Given the description of an element on the screen output the (x, y) to click on. 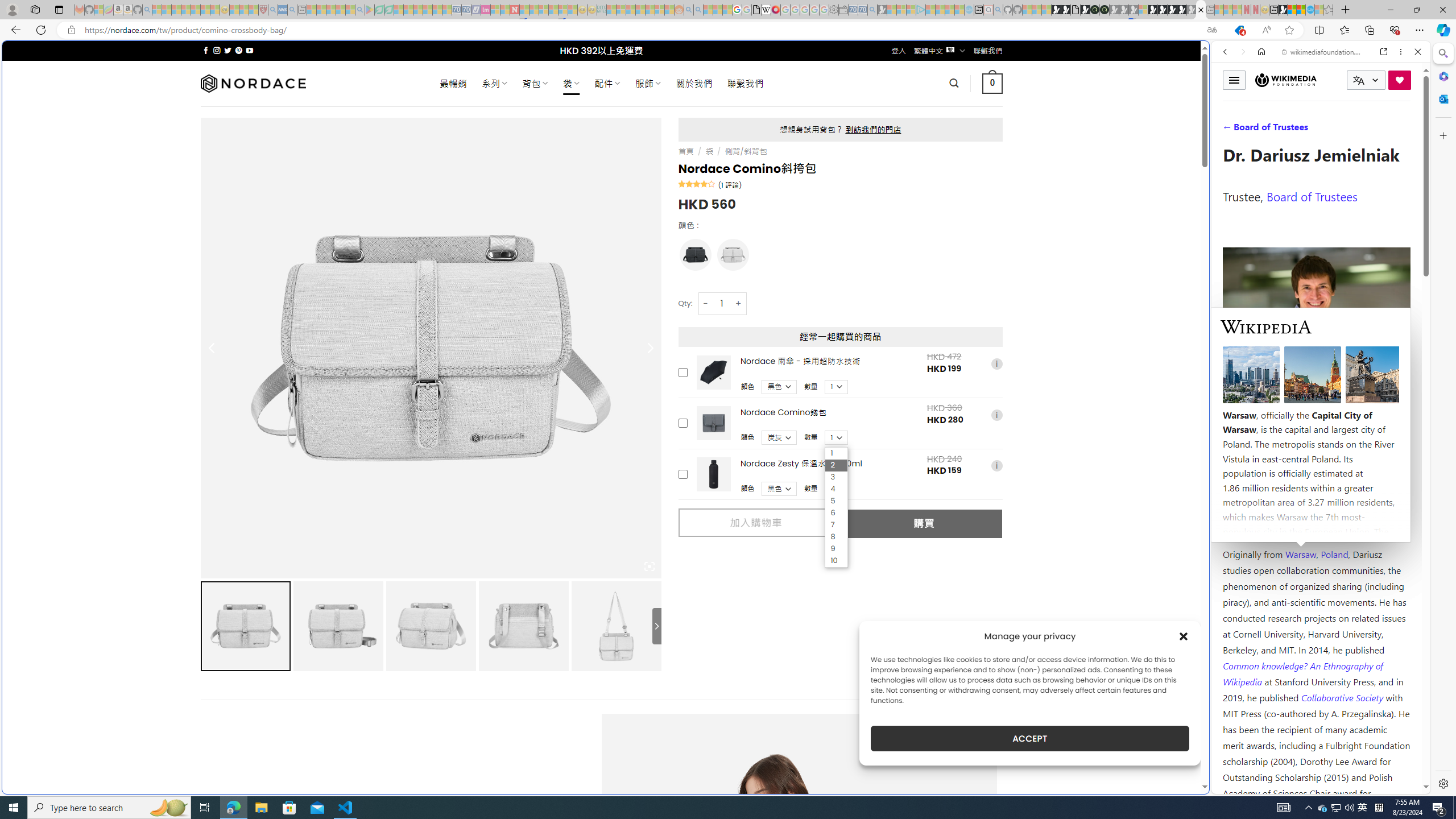
Board of Trustees (1311, 195)
